Given the description of an element on the screen output the (x, y) to click on. 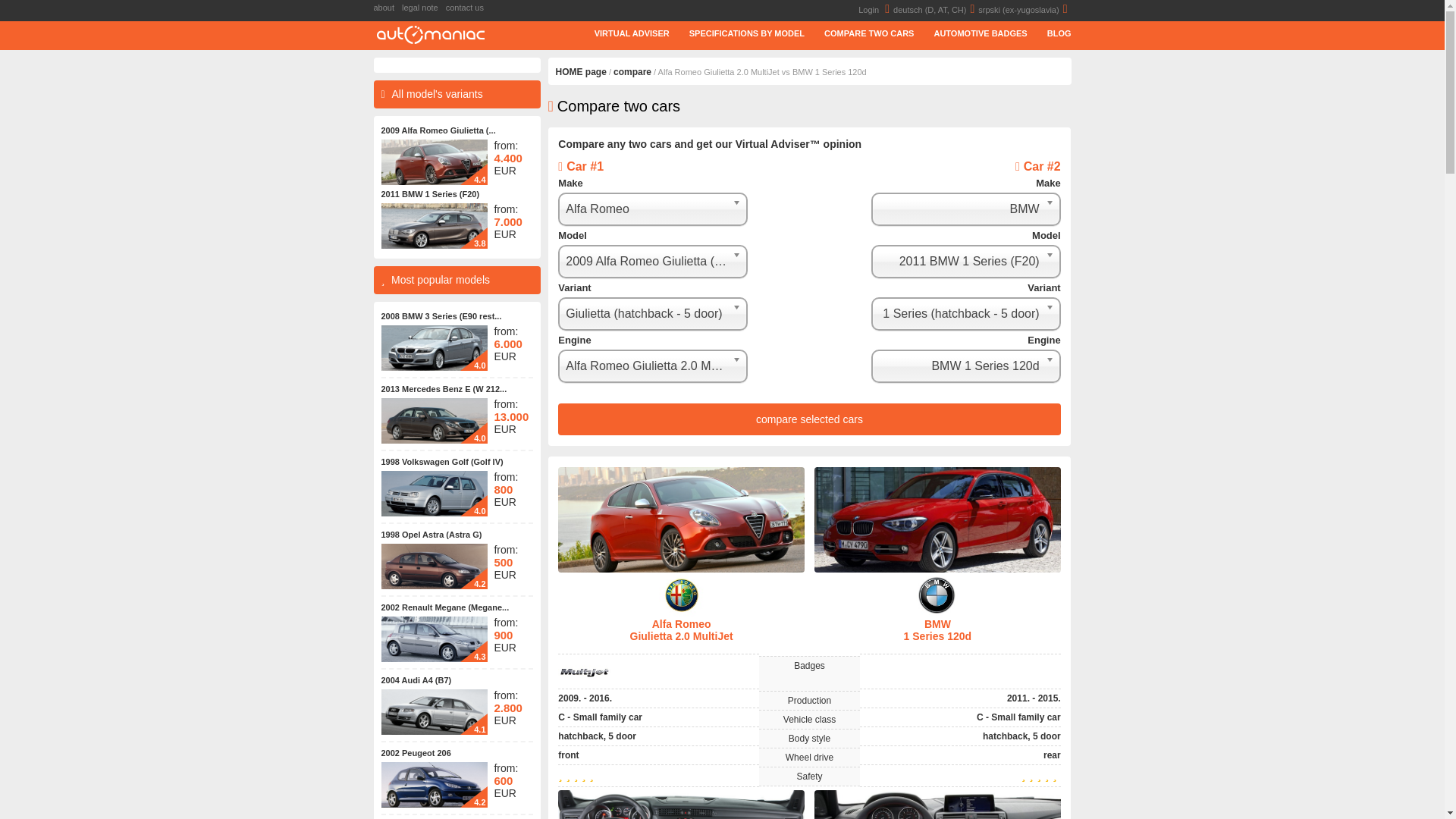
BMW 3 Series (433, 348)
contact us (468, 7)
about (386, 7)
AUTOMOTIVE BADGES (970, 32)
about (386, 7)
VIRTUAL ADVISER (622, 32)
Login (876, 9)
contact us (468, 7)
COMPARE TWO CARS (859, 32)
BMW 1 Series (433, 225)
BLOG (1049, 32)
2002 Peugeot 206 (414, 752)
Alfa Romeo Giulietta (433, 162)
legal note (423, 7)
SPECIFICATIONS BY MODEL (737, 32)
